Given the description of an element on the screen output the (x, y) to click on. 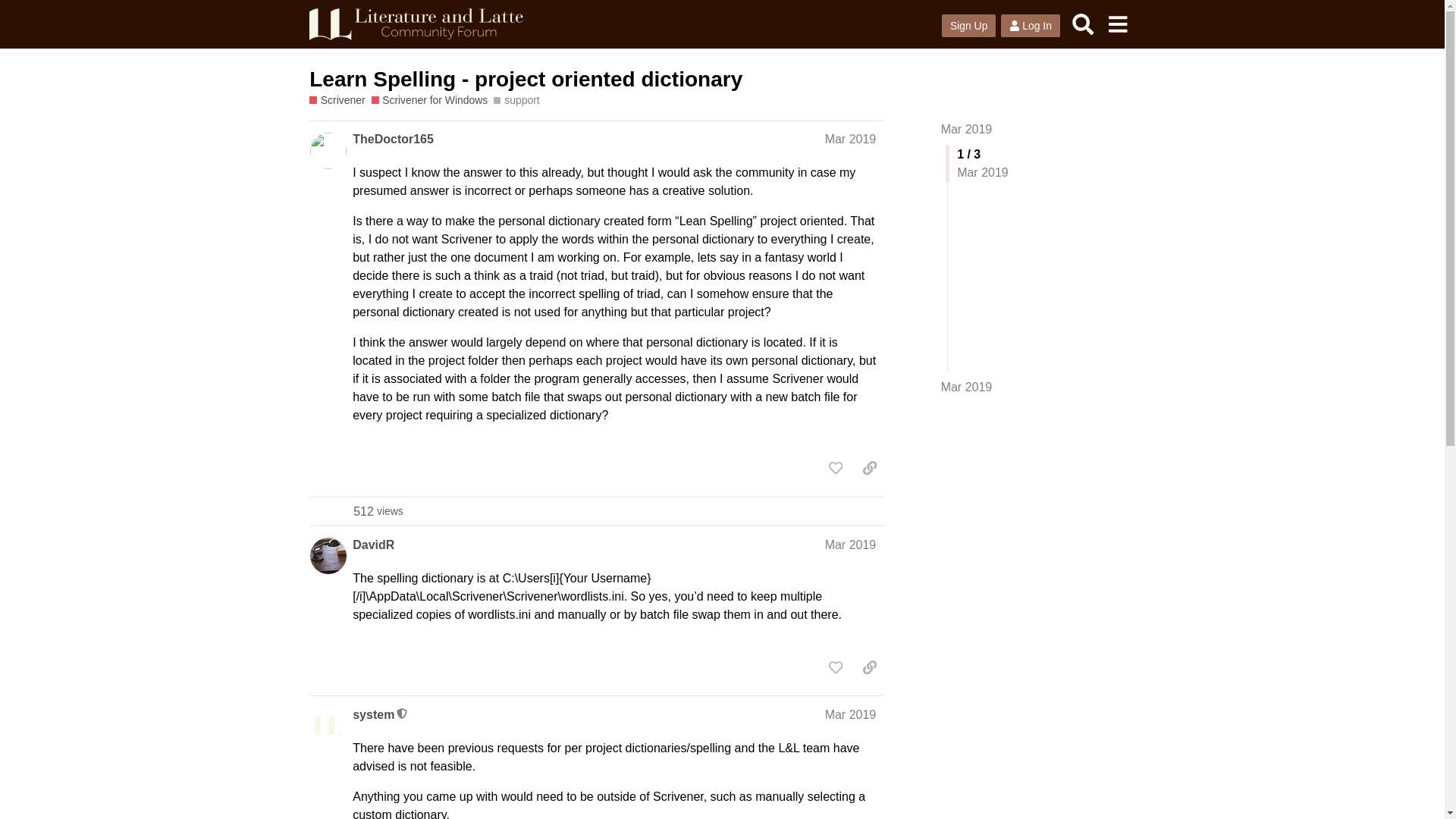
Sign Up (968, 25)
Search (1082, 23)
Log In (1030, 25)
Scrivener (336, 100)
Jump to the first post (966, 128)
copy a link to this post to clipboard (869, 467)
Post date (850, 714)
copy a link to this post to clipboard (869, 667)
Mar 2019 (966, 387)
TheDoctor165 (392, 139)
DavidR (373, 545)
Mar 2019 (850, 714)
Mar 2019 (850, 544)
Mar 2019 (966, 128)
